Given the description of an element on the screen output the (x, y) to click on. 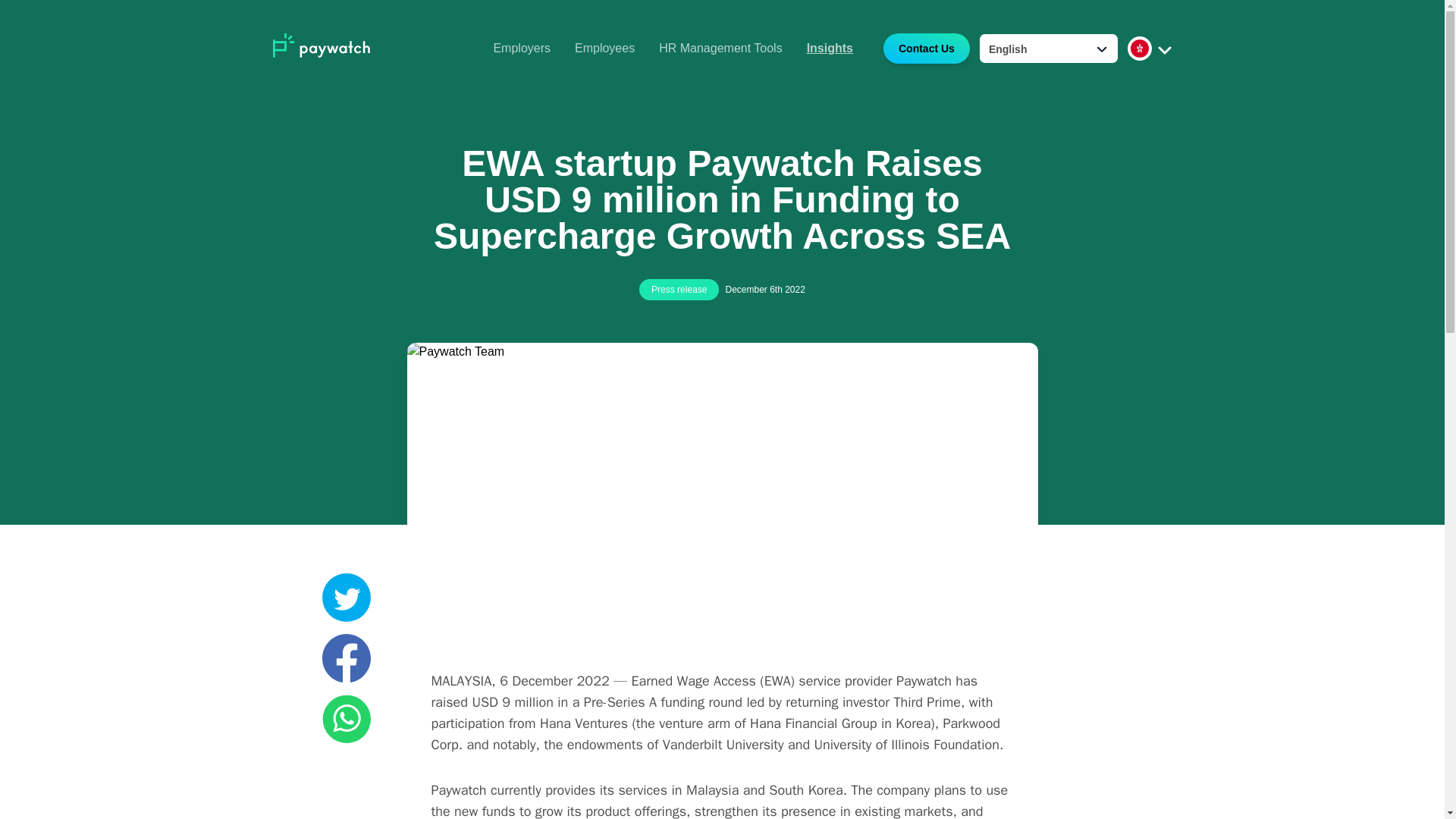
Contact Us (921, 49)
Employees (604, 47)
Employers (521, 47)
HR Management Tools (720, 47)
Insights (829, 47)
Contact Us (926, 48)
